Given the description of an element on the screen output the (x, y) to click on. 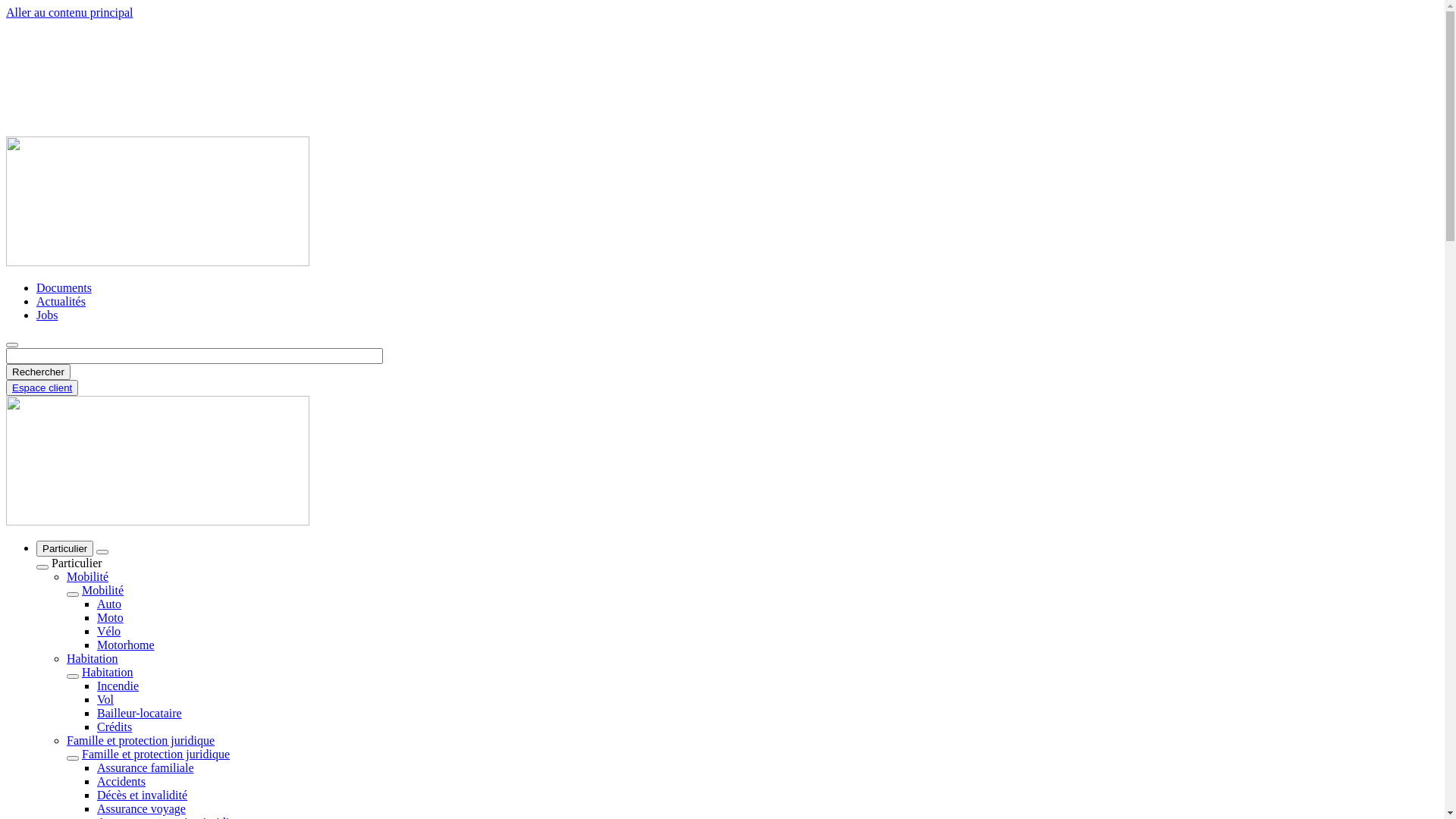
Documents Element type: text (63, 287)
Auto Element type: text (109, 603)
Rechercher Element type: text (38, 371)
Aller au contenu principal Element type: text (69, 12)
Vol Element type: text (105, 699)
Accidents Element type: text (121, 781)
Assurance voyage Element type: text (141, 808)
Particulier Element type: text (64, 548)
Assurance familiale Element type: text (145, 767)
Motorhome Element type: text (125, 644)
Jobs Element type: text (46, 314)
Habitation Element type: text (92, 658)
Habitation Element type: text (107, 671)
Famille et protection juridique Element type: text (155, 753)
Famille et protection juridique Element type: text (140, 740)
Moto Element type: text (110, 617)
Bailleur-locataire Element type: text (139, 712)
Incendie Element type: text (117, 685)
Espace client Element type: text (42, 387)
Espace client Element type: text (42, 387)
